Given the description of an element on the screen output the (x, y) to click on. 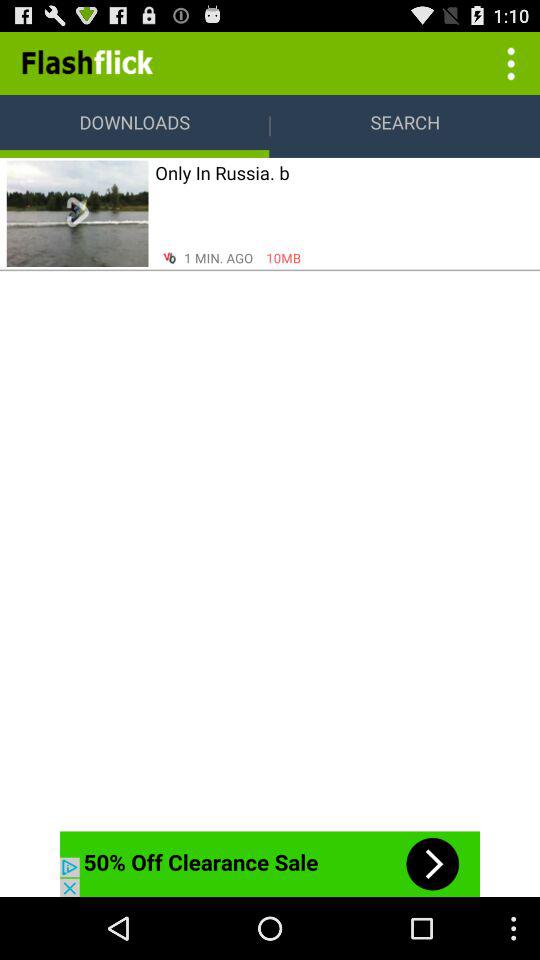
options menu (508, 62)
